Given the description of an element on the screen output the (x, y) to click on. 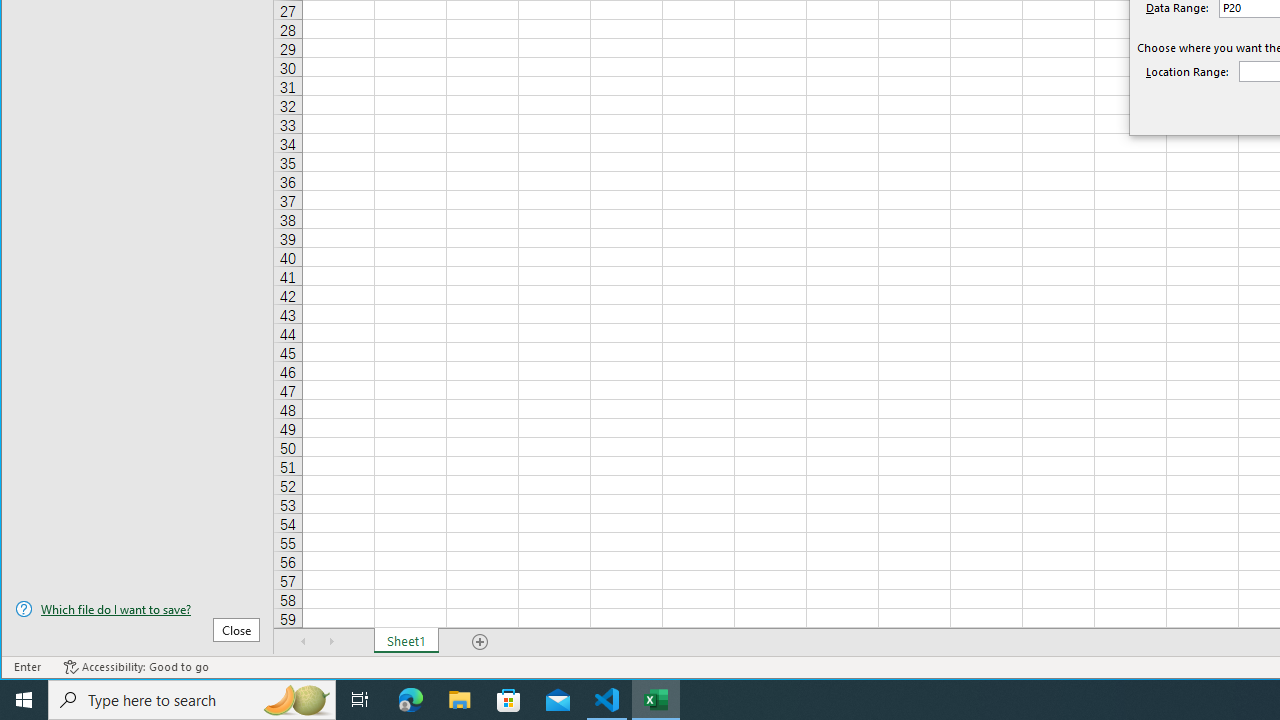
Close (235, 629)
Which file do I want to save? (137, 609)
Scroll Right (331, 641)
Sheet1 (406, 641)
Add Sheet (481, 641)
Scroll Left (303, 641)
Accessibility Checker Accessibility: Good to go (136, 667)
